Given the description of an element on the screen output the (x, y) to click on. 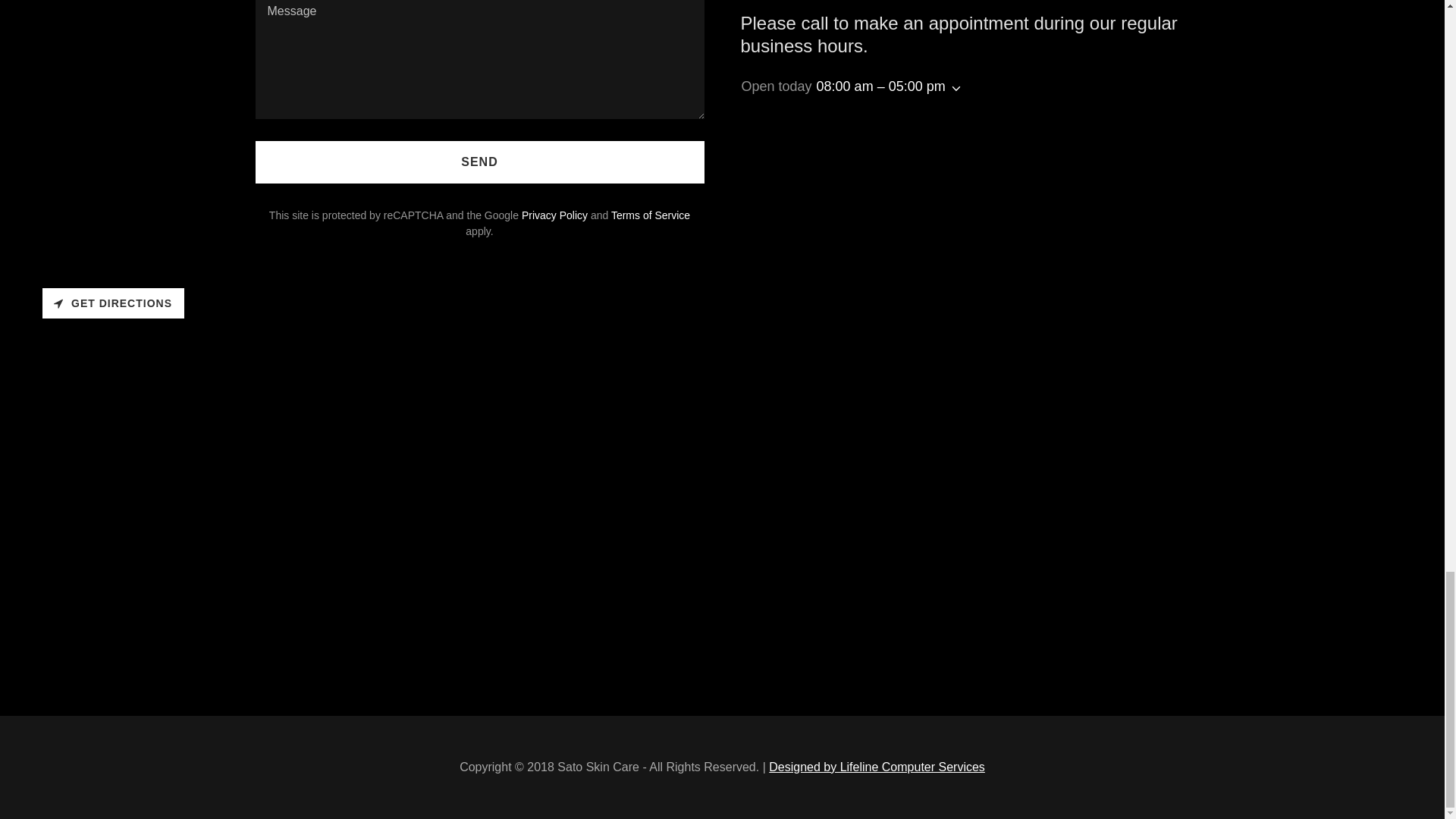
Terms of Service (650, 215)
SEND (478, 161)
Privacy Policy (554, 215)
Designed by Lifeline Computer Services (876, 766)
GET DIRECTIONS (113, 303)
